Given the description of an element on the screen output the (x, y) to click on. 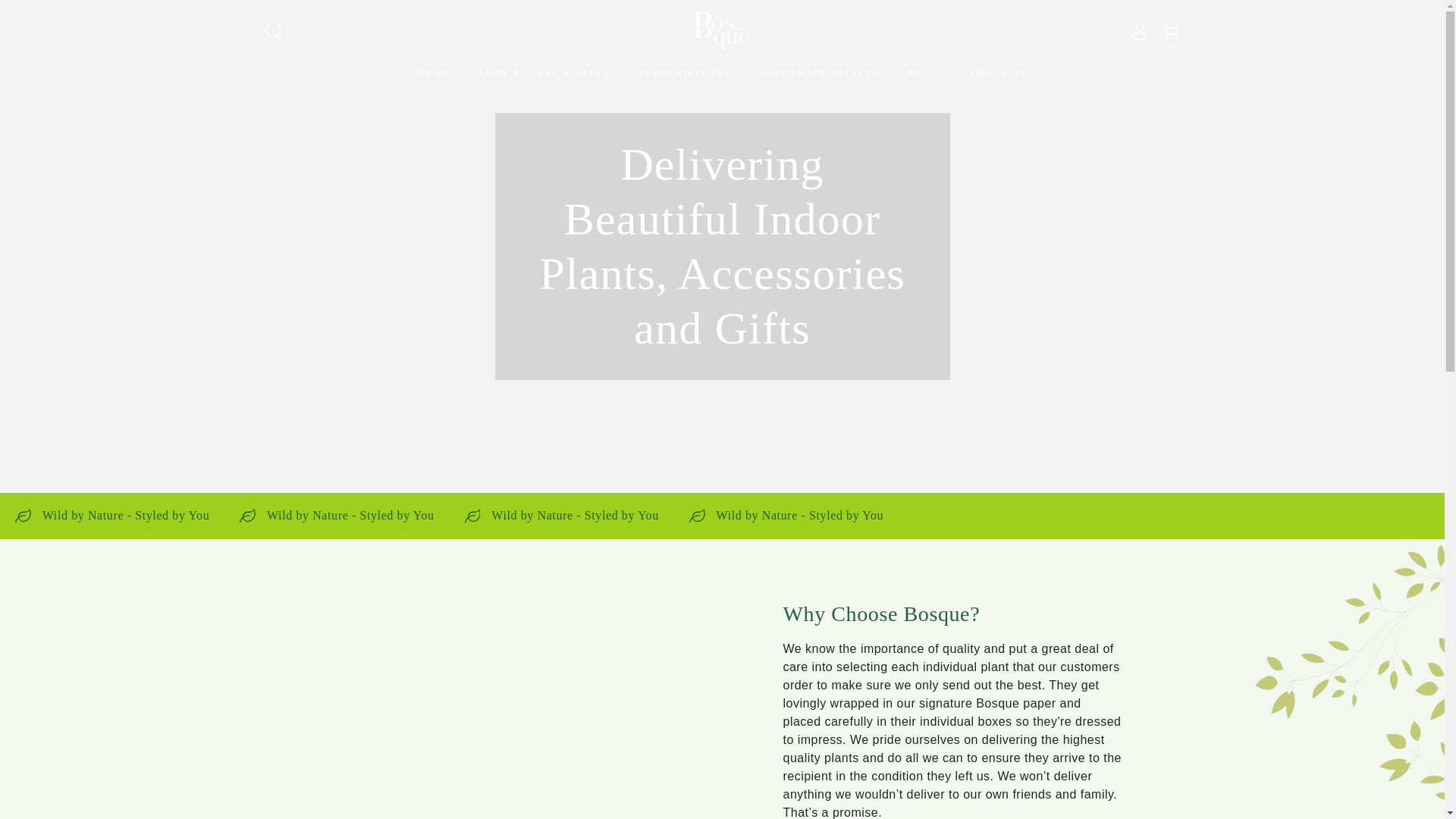
SUBSCRIPTIONS (683, 72)
Cart (1170, 30)
HOME (435, 72)
ABOUT US (997, 72)
Log in (1138, 30)
CORPORATE GIFTING (819, 72)
SKIP TO CONTENT (53, 11)
BLOG (923, 72)
